Given the description of an element on the screen output the (x, y) to click on. 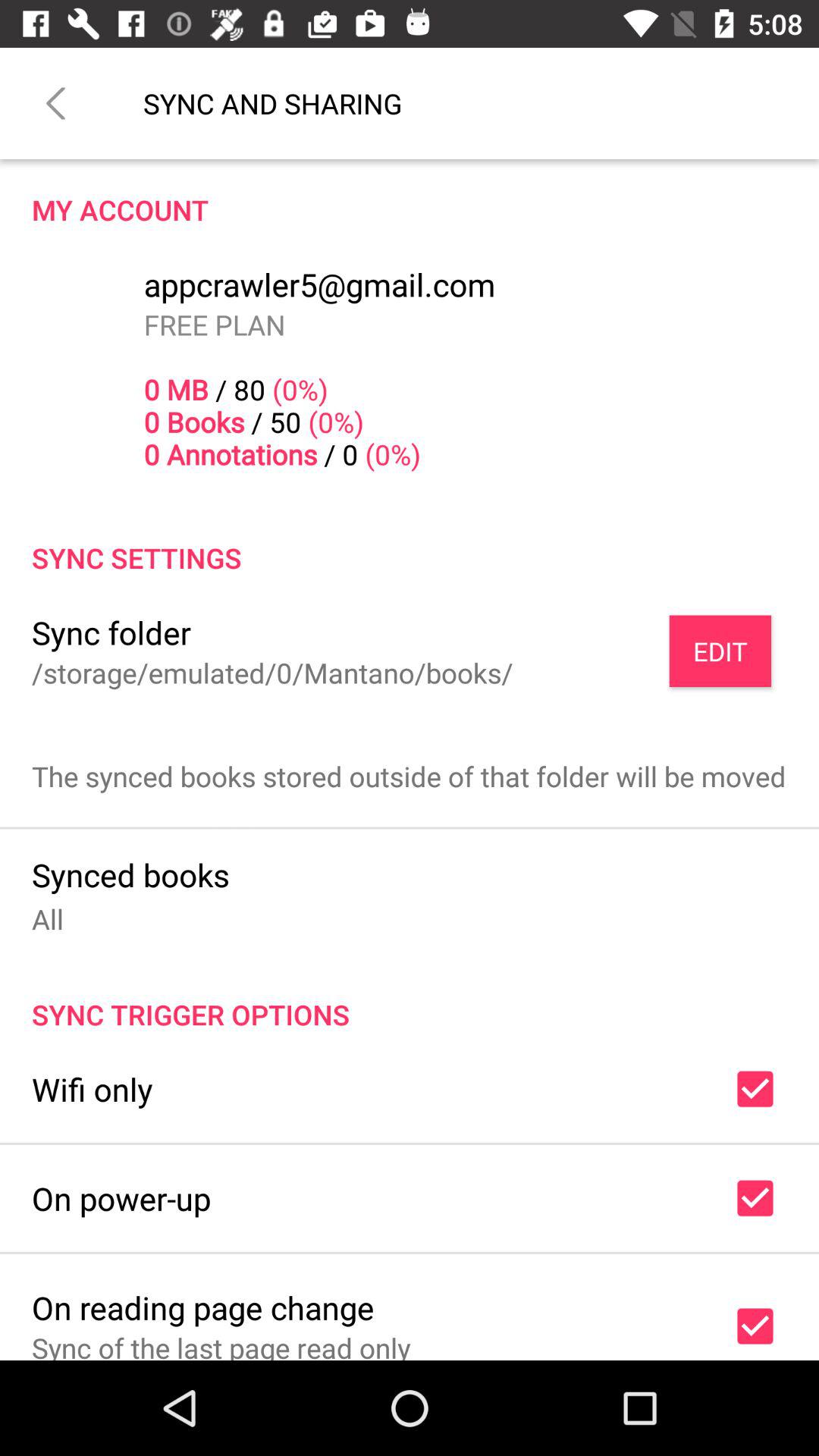
flip to the wifi only icon (91, 1088)
